Given the description of an element on the screen output the (x, y) to click on. 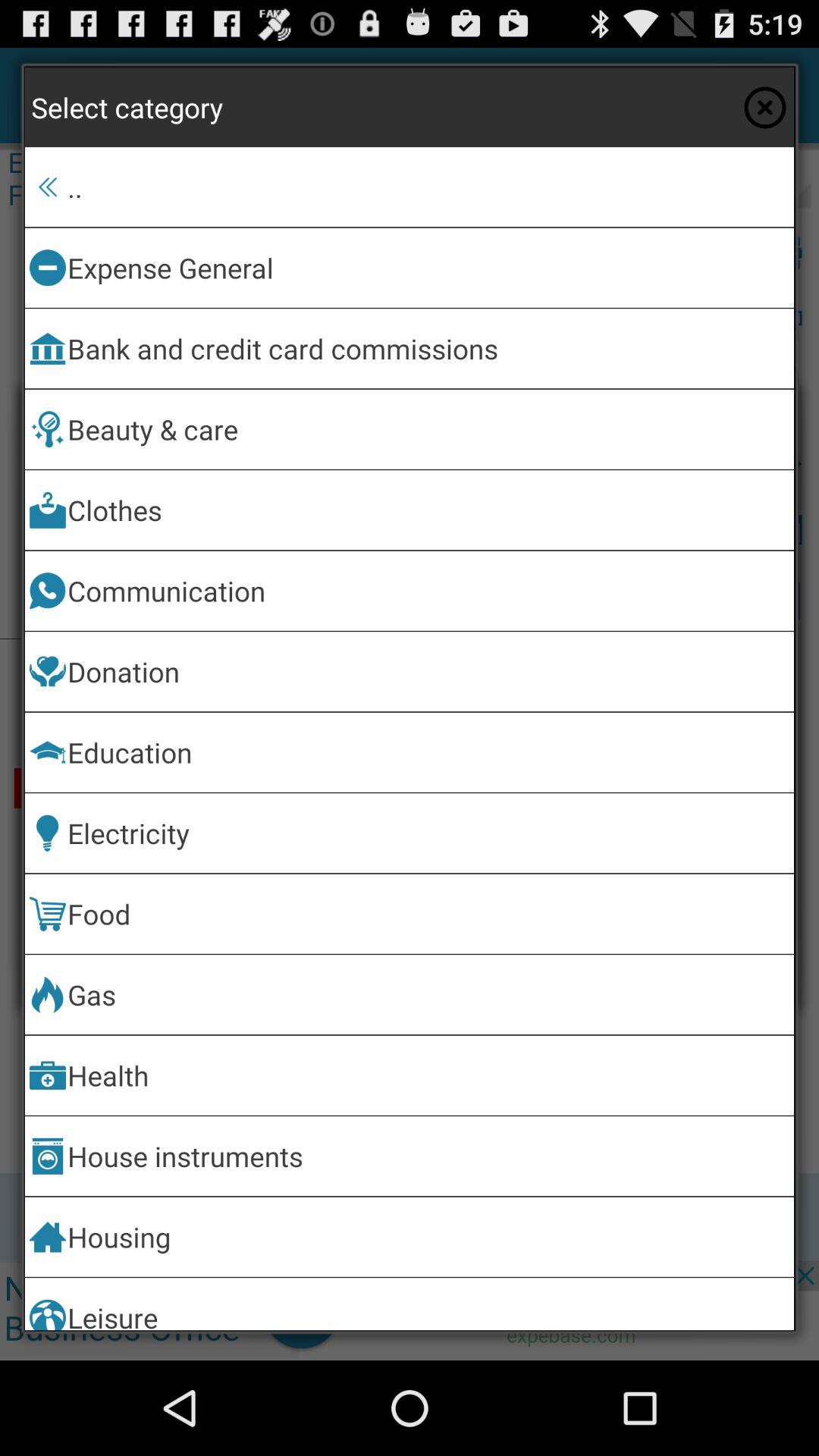
scroll until food icon (427, 913)
